Given the description of an element on the screen output the (x, y) to click on. 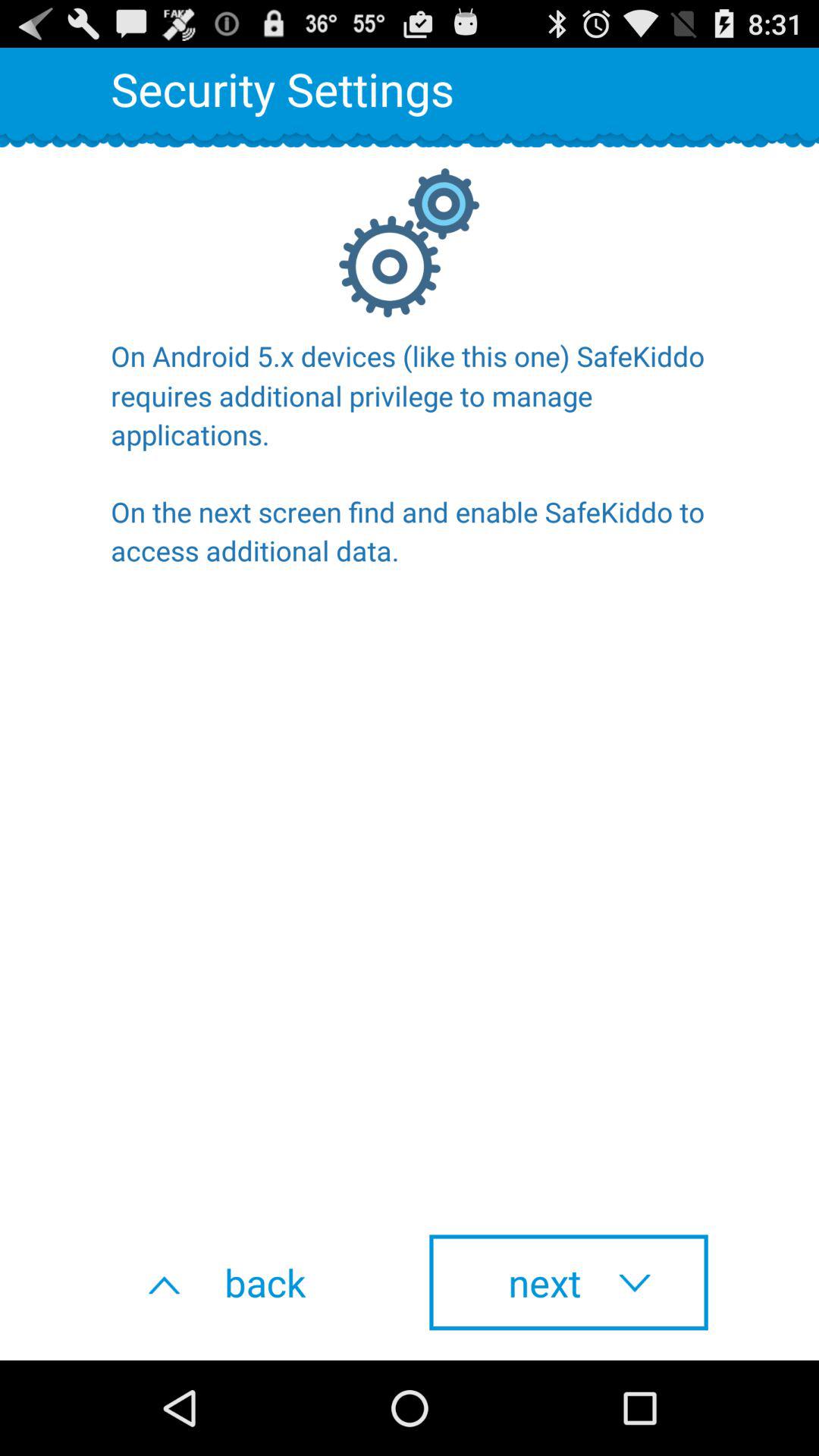
click the icon next to next button (249, 1282)
